Given the description of an element on the screen output the (x, y) to click on. 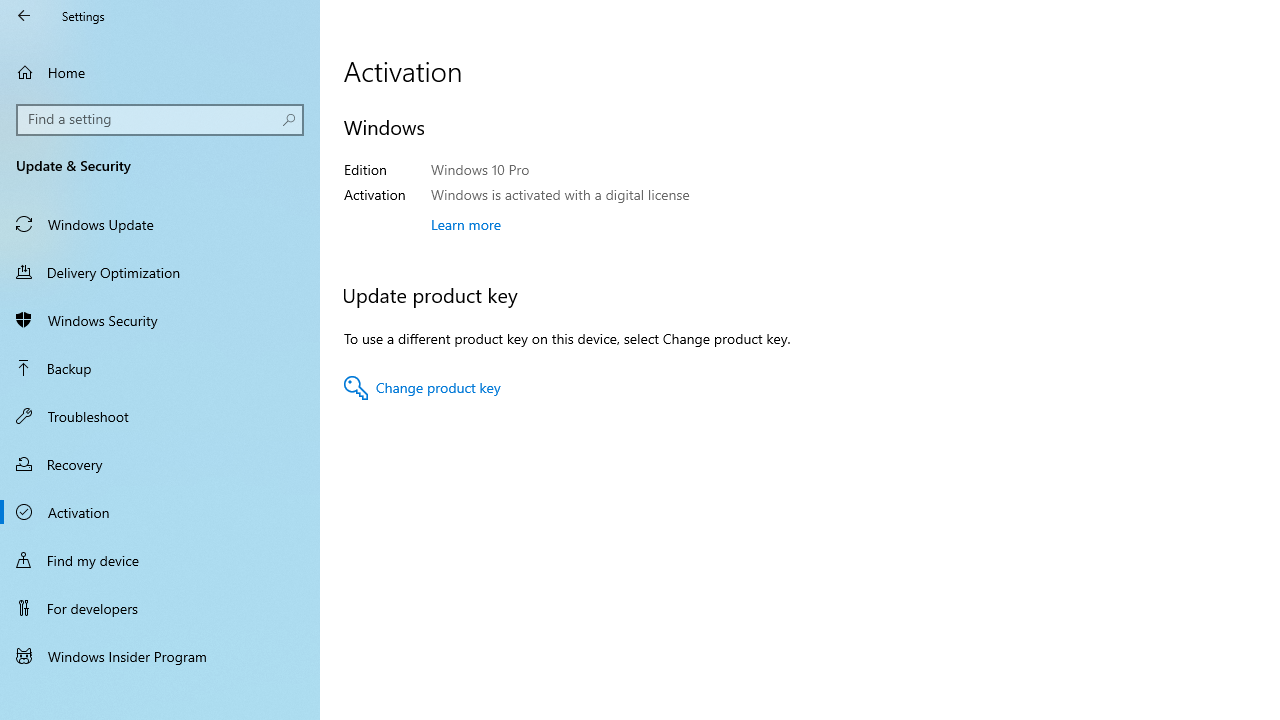
Backup (160, 367)
Find my device (160, 559)
Recovery (160, 463)
Change product key (422, 387)
Learn more about Windows activation (466, 224)
For developers (160, 607)
Activation (160, 511)
Windows Insider Program (160, 655)
Troubleshoot (160, 415)
Delivery Optimization (160, 271)
Windows Security (160, 319)
Windows Update (160, 223)
Search box, Find a setting (160, 119)
